Given the description of an element on the screen output the (x, y) to click on. 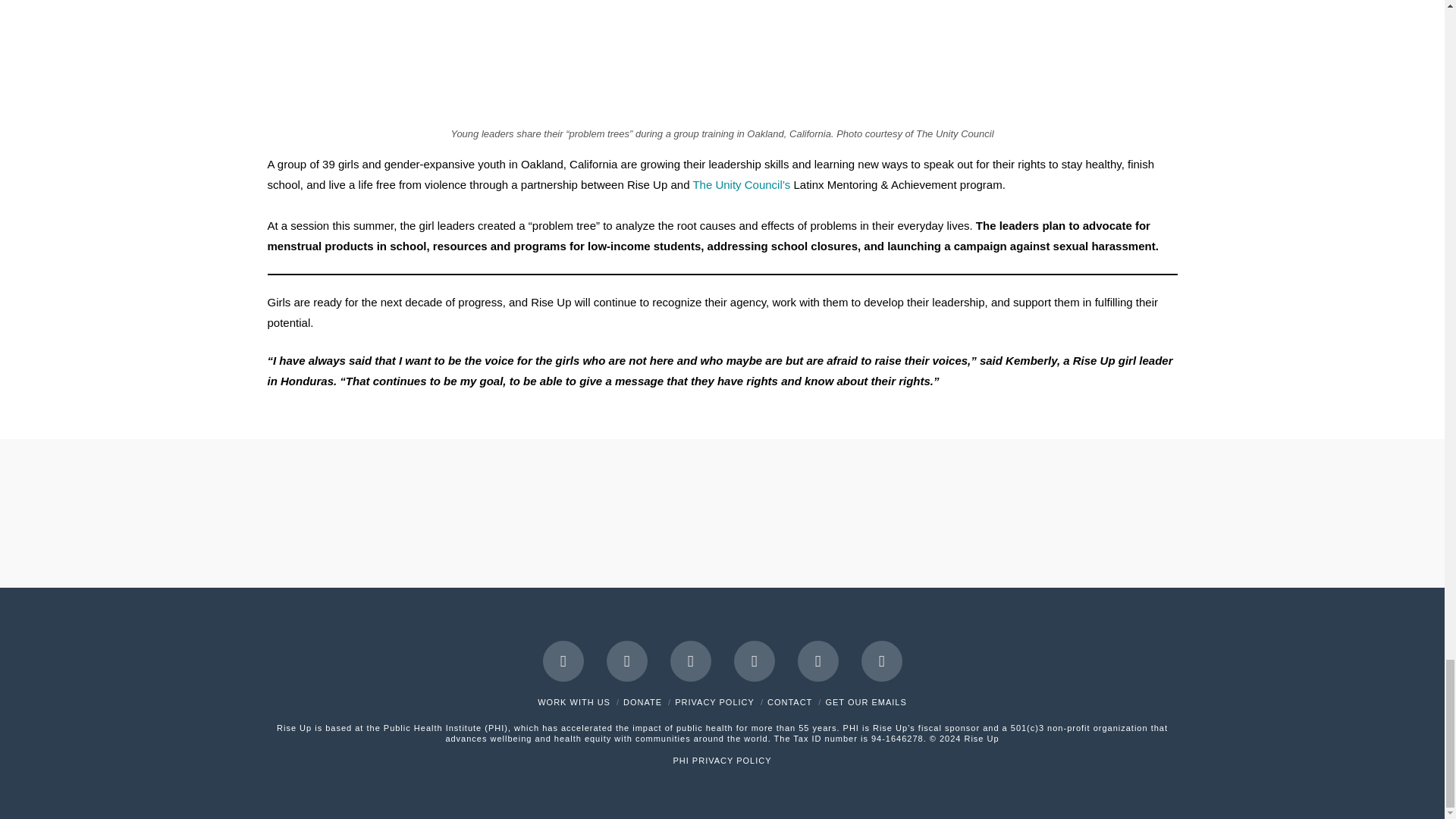
LinkedIn (690, 660)
Instagram (881, 660)
YouTube (753, 660)
Vimeo (817, 660)
Facebook (563, 660)
